Given the description of an element on the screen output the (x, y) to click on. 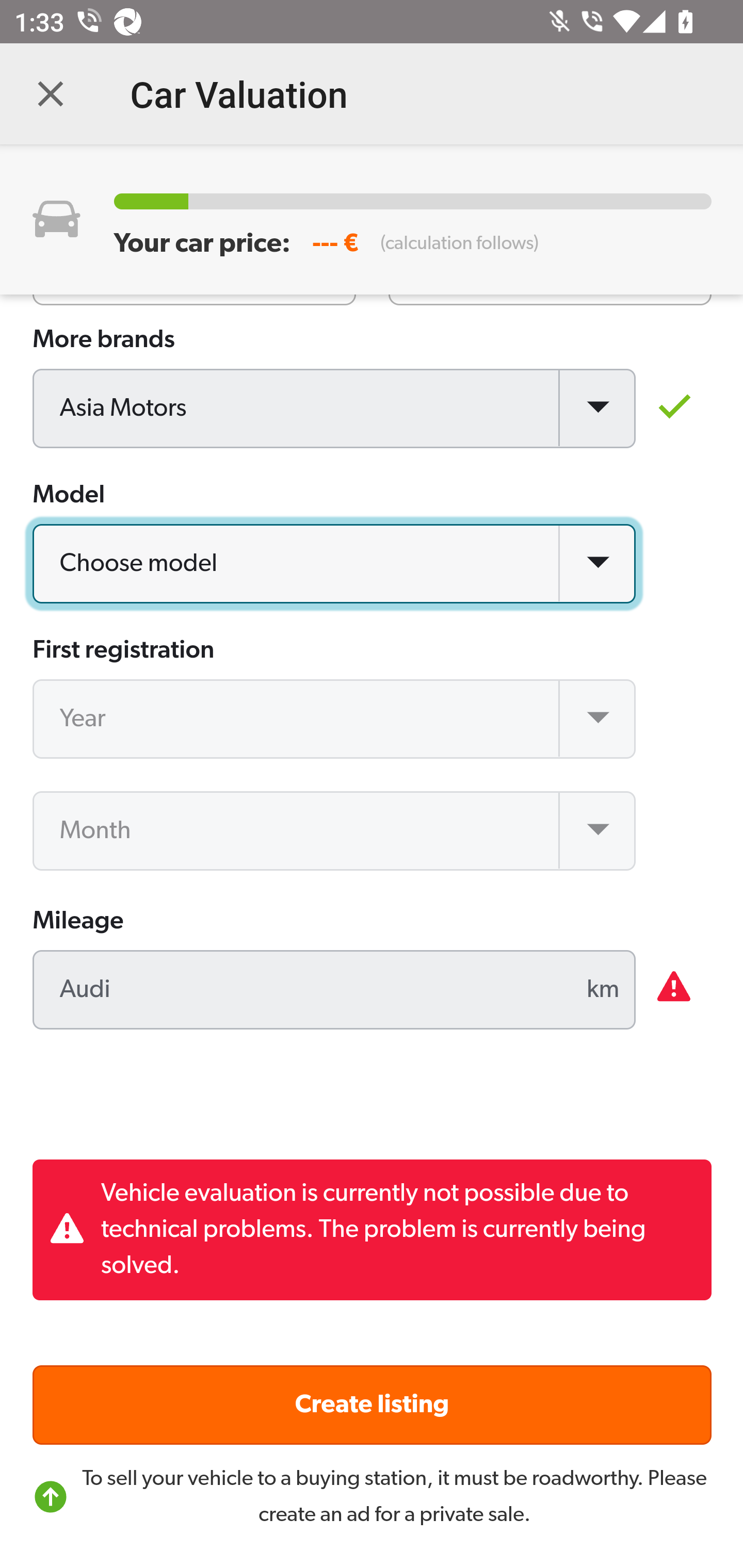
Navigate up (50, 93)
Asia Motors (334, 409)
Choose model (334, 564)
Year (334, 720)
Month (334, 831)
Audi (334, 991)
Create listing (372, 1405)
